Given the description of an element on the screen output the (x, y) to click on. 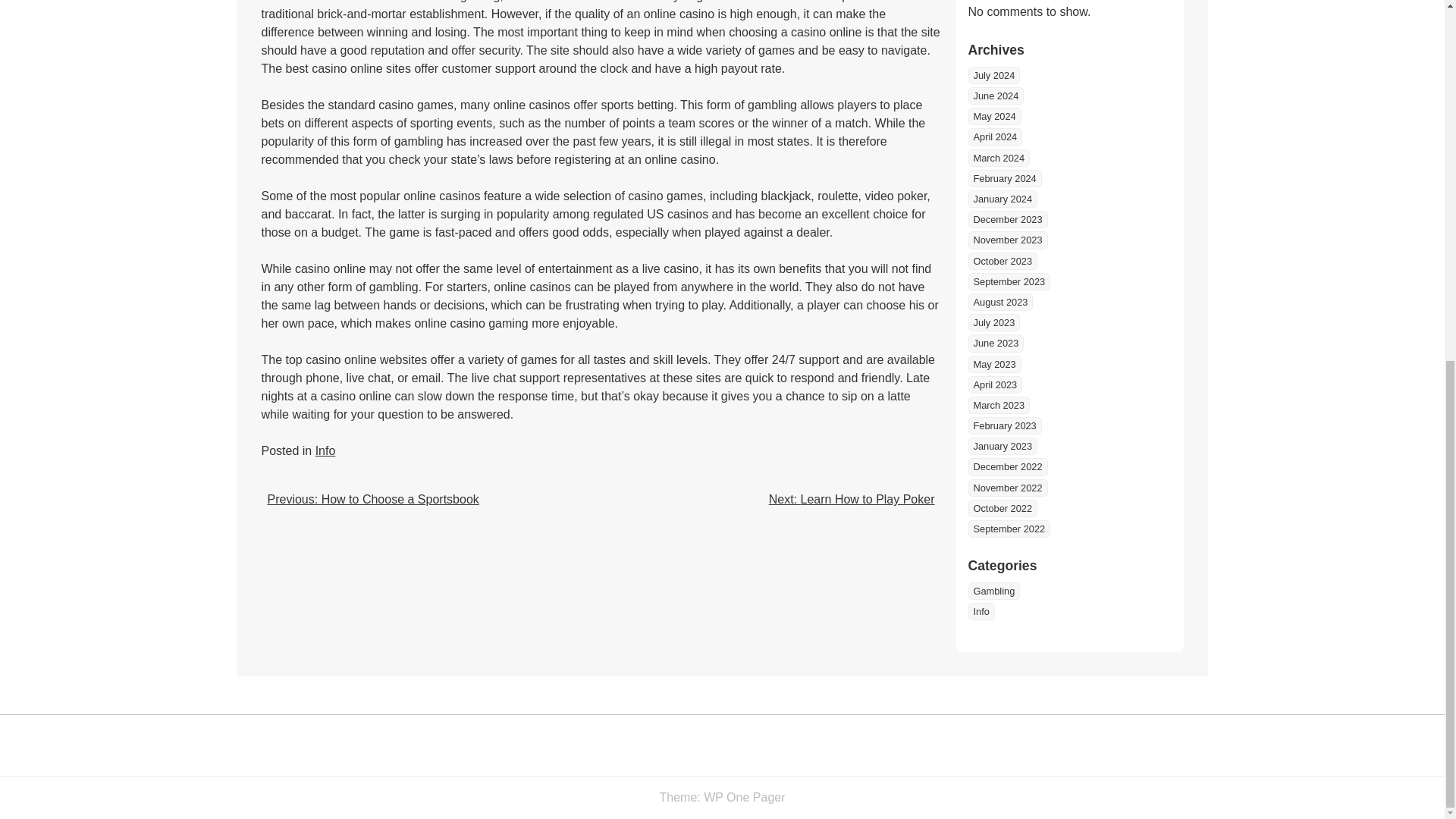
Previous: How to Choose a Sportsbook (372, 499)
December 2023 (1007, 219)
July 2023 (994, 322)
Next: Learn How to Play Poker (851, 499)
May 2024 (994, 116)
November 2022 (1007, 487)
February 2024 (1004, 178)
March 2024 (998, 158)
August 2023 (1000, 302)
July 2024 (994, 75)
October 2022 (1002, 507)
March 2023 (998, 405)
Info (325, 450)
January 2024 (1002, 199)
June 2023 (995, 343)
